Given the description of an element on the screen output the (x, y) to click on. 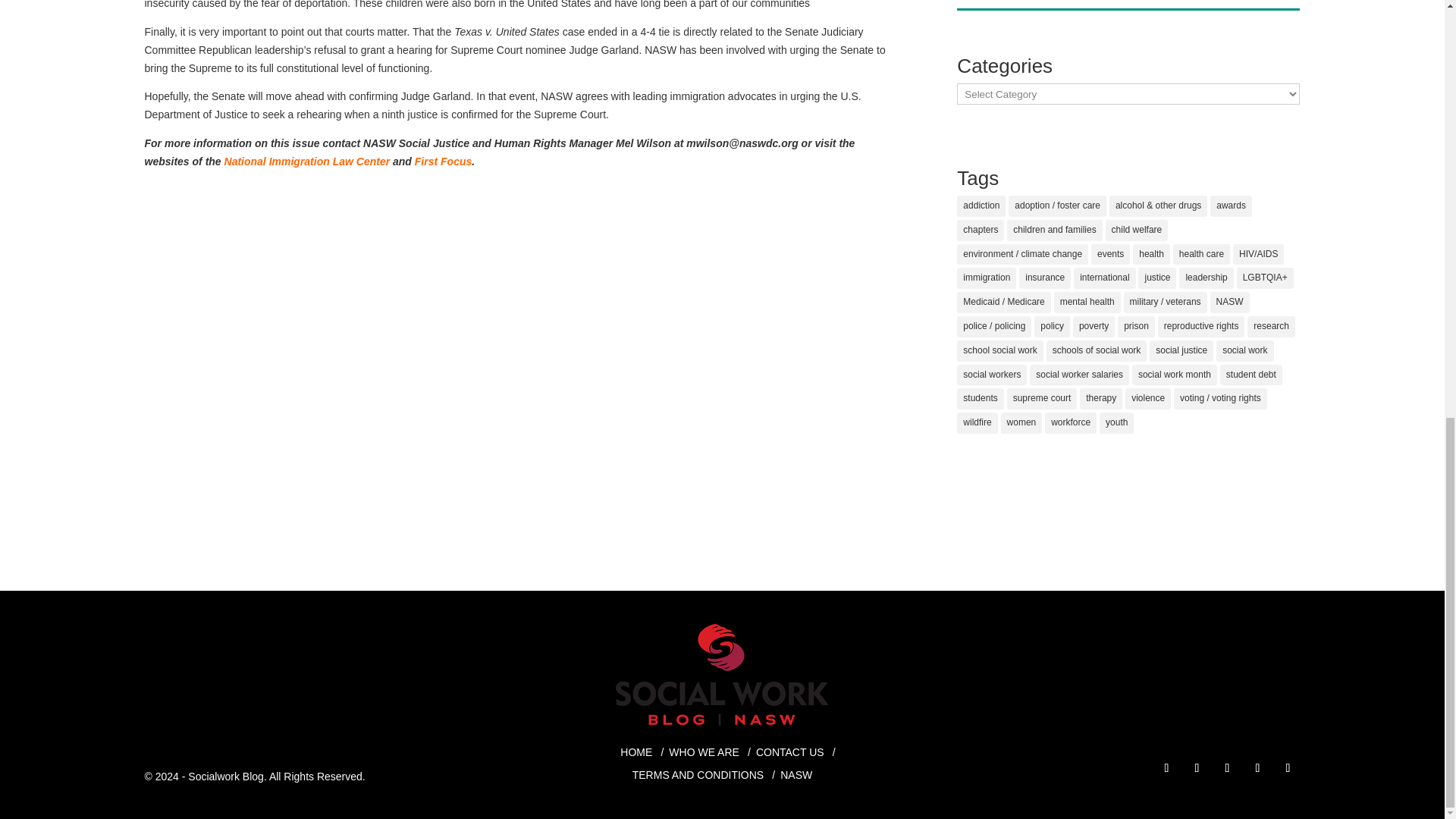
chapters (980, 230)
child welfare (1137, 230)
Follow on Instagram (1196, 767)
Follow on LinkedIn (1226, 767)
children and families (1054, 230)
addiction (981, 206)
Follow on X (1256, 767)
Follow on Facebook (1165, 767)
Follow on Youtube (1287, 767)
awards (1230, 206)
National Immigration Law Center (307, 161)
First Focus (442, 161)
